Given the description of an element on the screen output the (x, y) to click on. 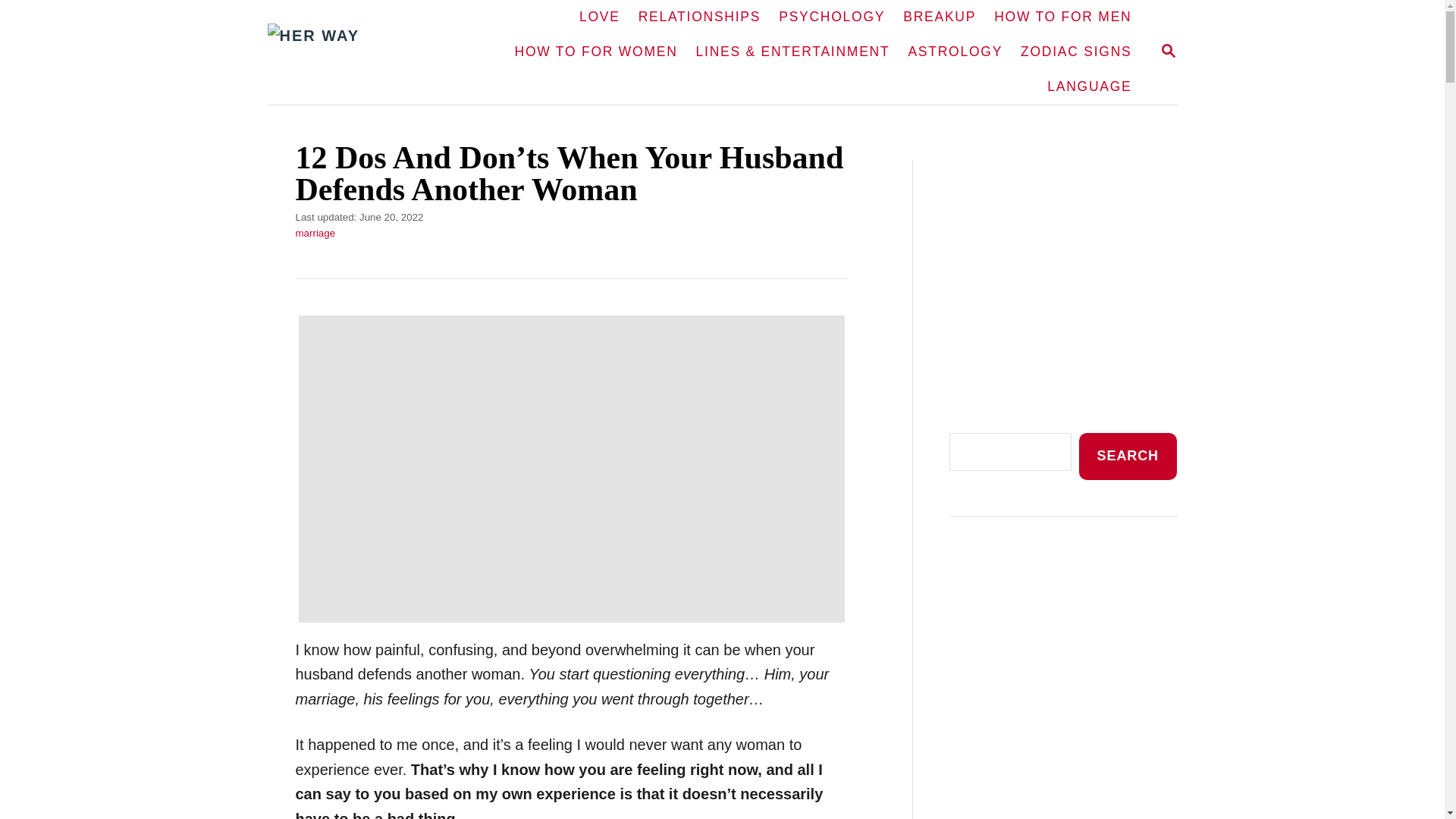
LOVE (599, 17)
BREAKUP (939, 17)
Her Way (355, 51)
PSYCHOLOGY (831, 17)
HOW TO FOR WOMEN (596, 52)
MAGNIFYING GLASS (1167, 51)
HOW TO FOR MEN (1167, 50)
RELATIONSHIPS (1062, 17)
